Given the description of an element on the screen output the (x, y) to click on. 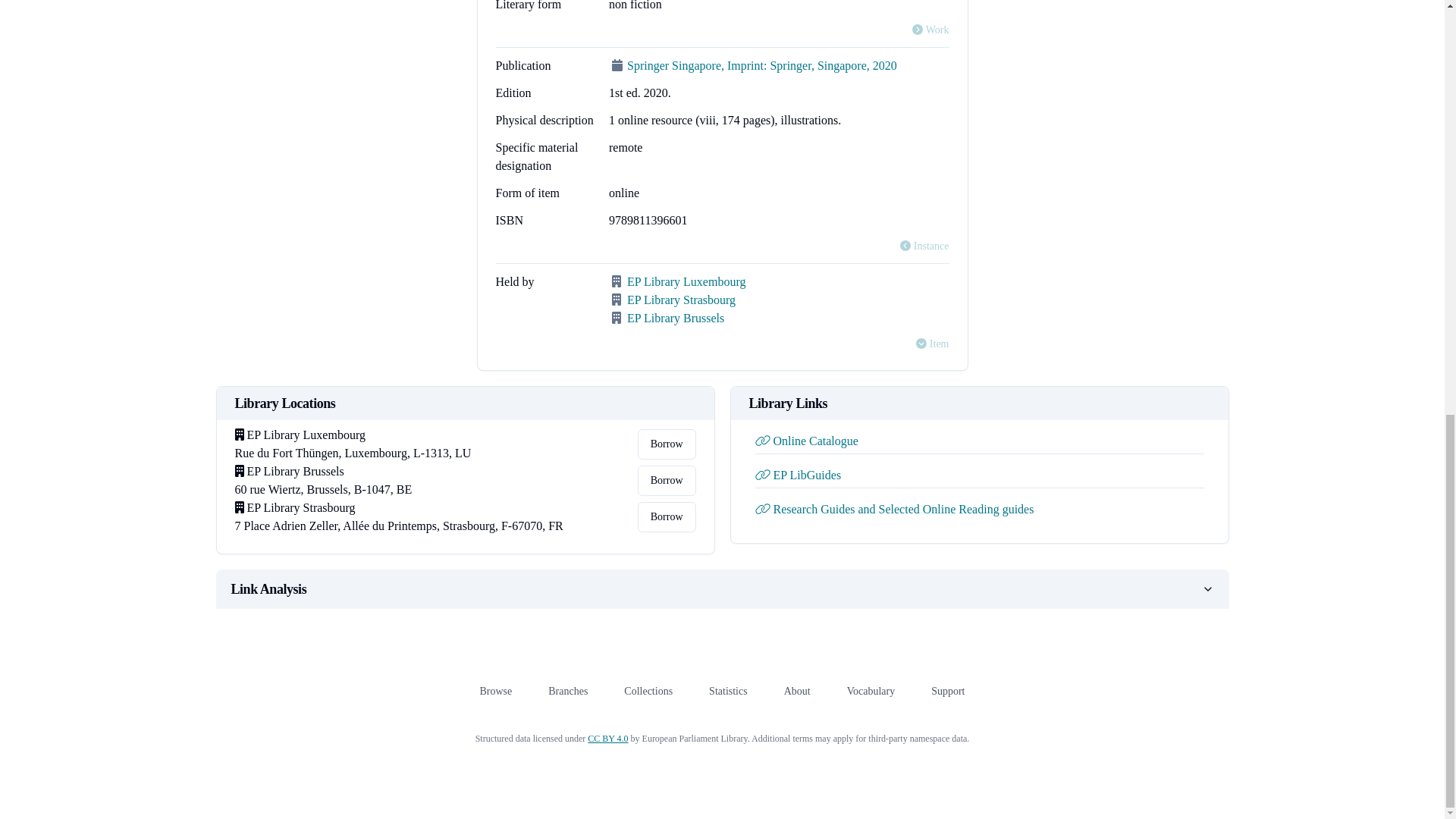
EP LibGuides (798, 474)
Instance (924, 246)
Statistics (728, 690)
CC BY 4.0 (607, 738)
Research Guides and Selected Online Reading guides (894, 508)
Springer Singapore, Imprint: Springer, Singapore, 2020 (761, 65)
Link Analysis (721, 589)
Borrow (666, 517)
Collections (648, 690)
Browse (495, 690)
EP Library Strasbourg (681, 299)
EP Library Luxembourg (686, 281)
Vocabulary (871, 690)
Borrow (666, 444)
Support (947, 690)
